Given the description of an element on the screen output the (x, y) to click on. 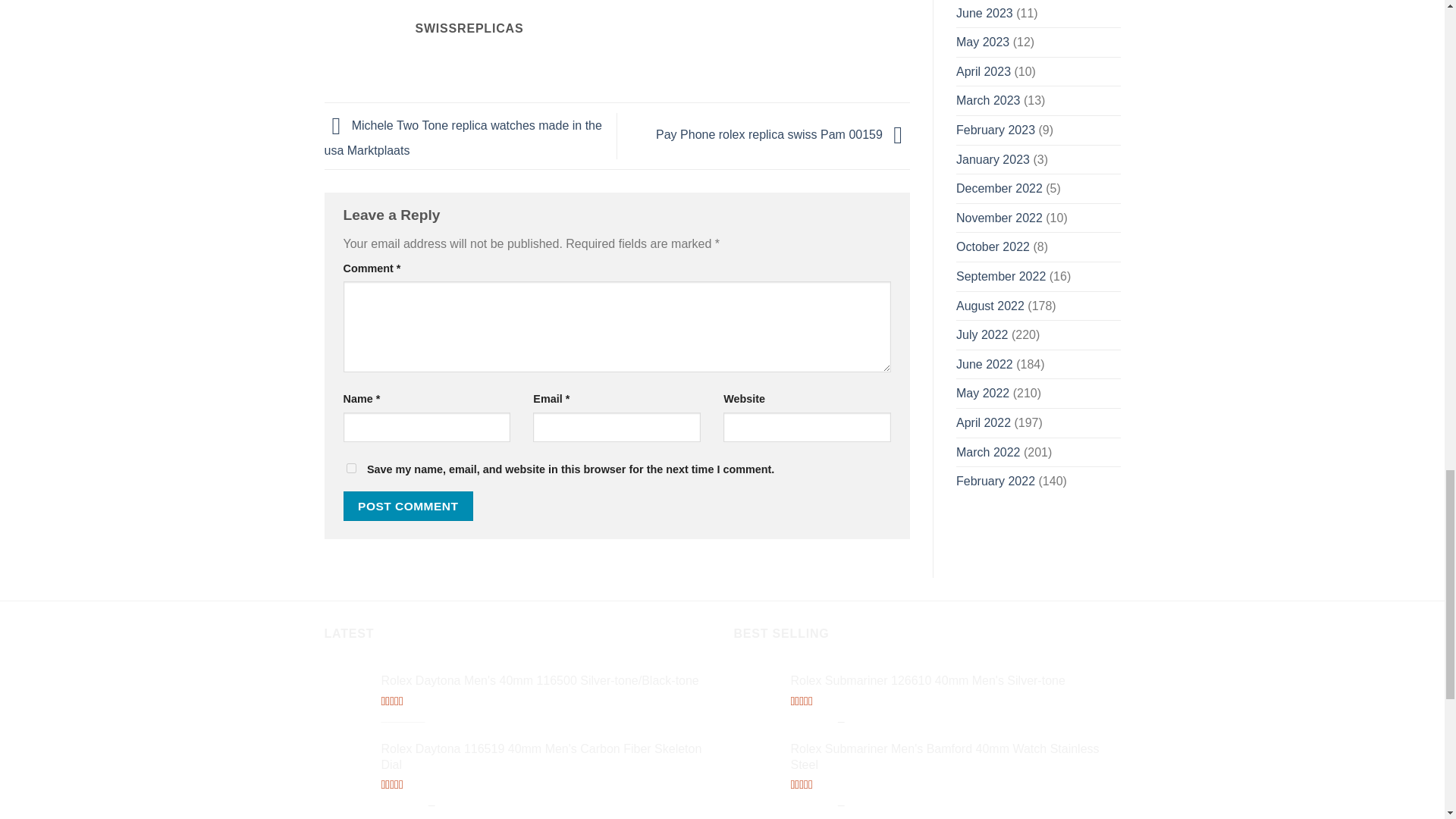
yes (350, 468)
Post Comment (407, 505)
